Given the description of an element on the screen output the (x, y) to click on. 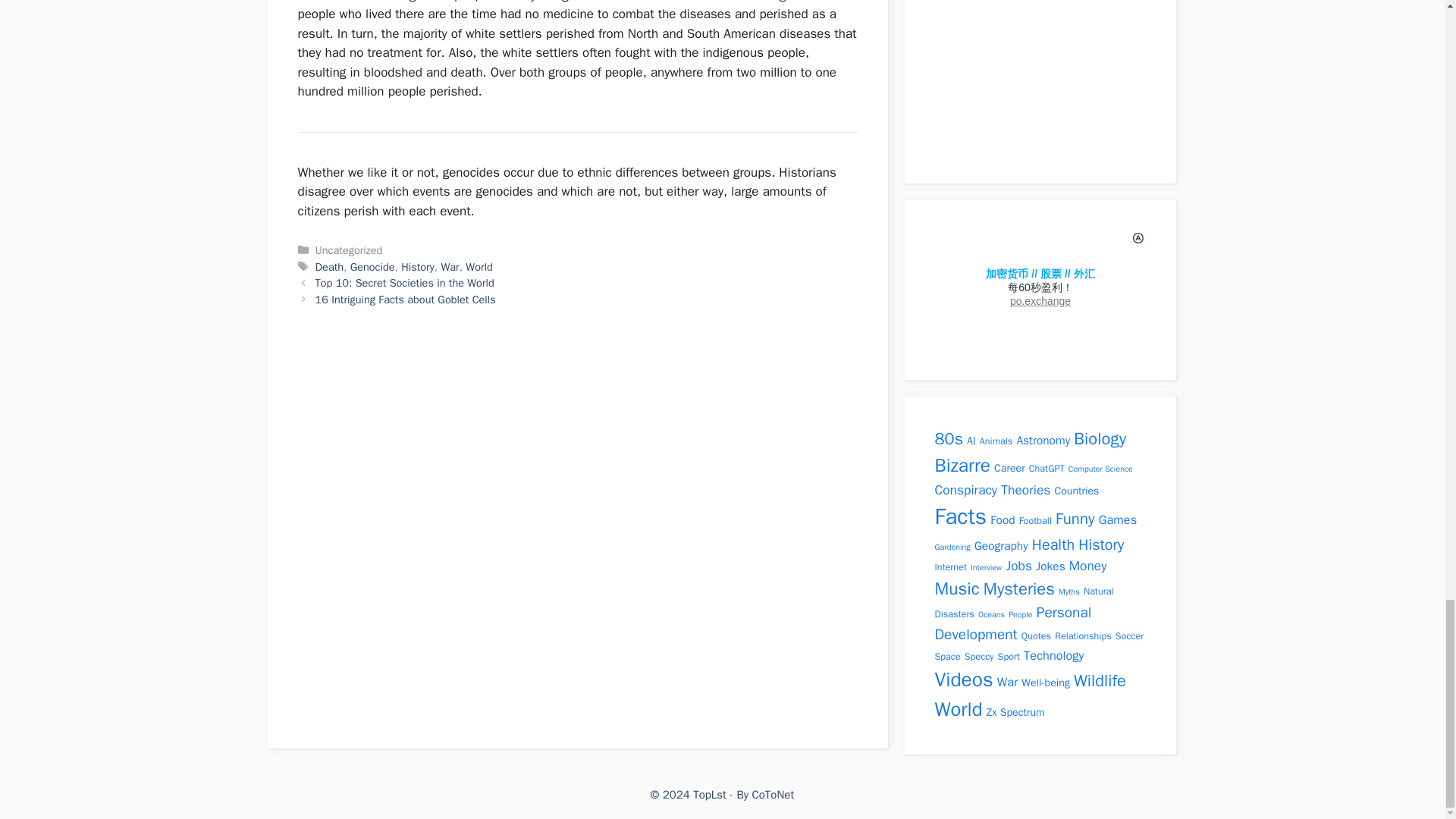
Death (329, 266)
History (417, 266)
War (449, 266)
16 Intriguing Facts about Goblet Cells (405, 299)
Genocide (372, 266)
Top 10: Secret Societies in the World (405, 282)
World (478, 266)
